Given the description of an element on the screen output the (x, y) to click on. 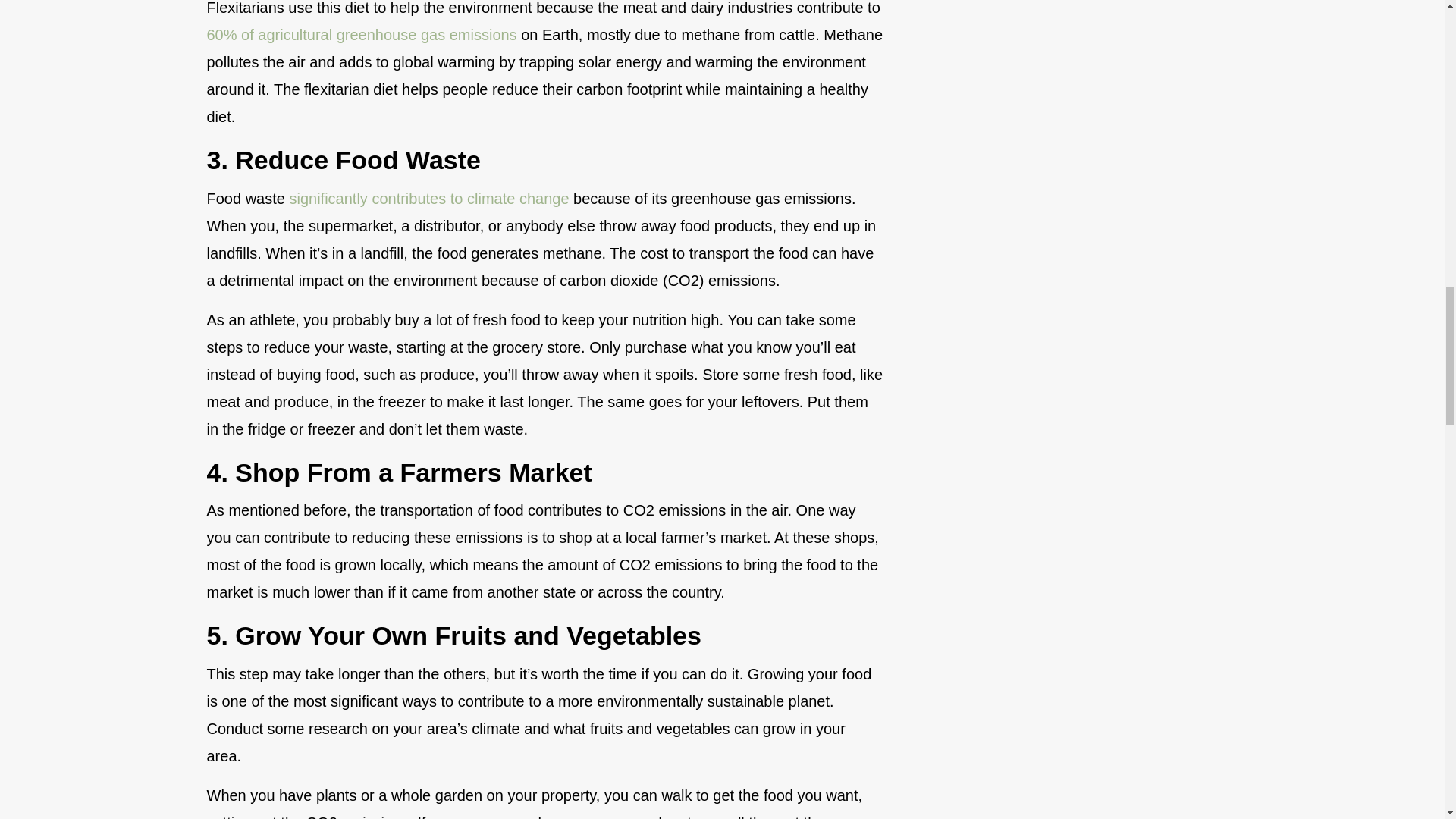
significantly contributes to climate change (428, 198)
